Given the description of an element on the screen output the (x, y) to click on. 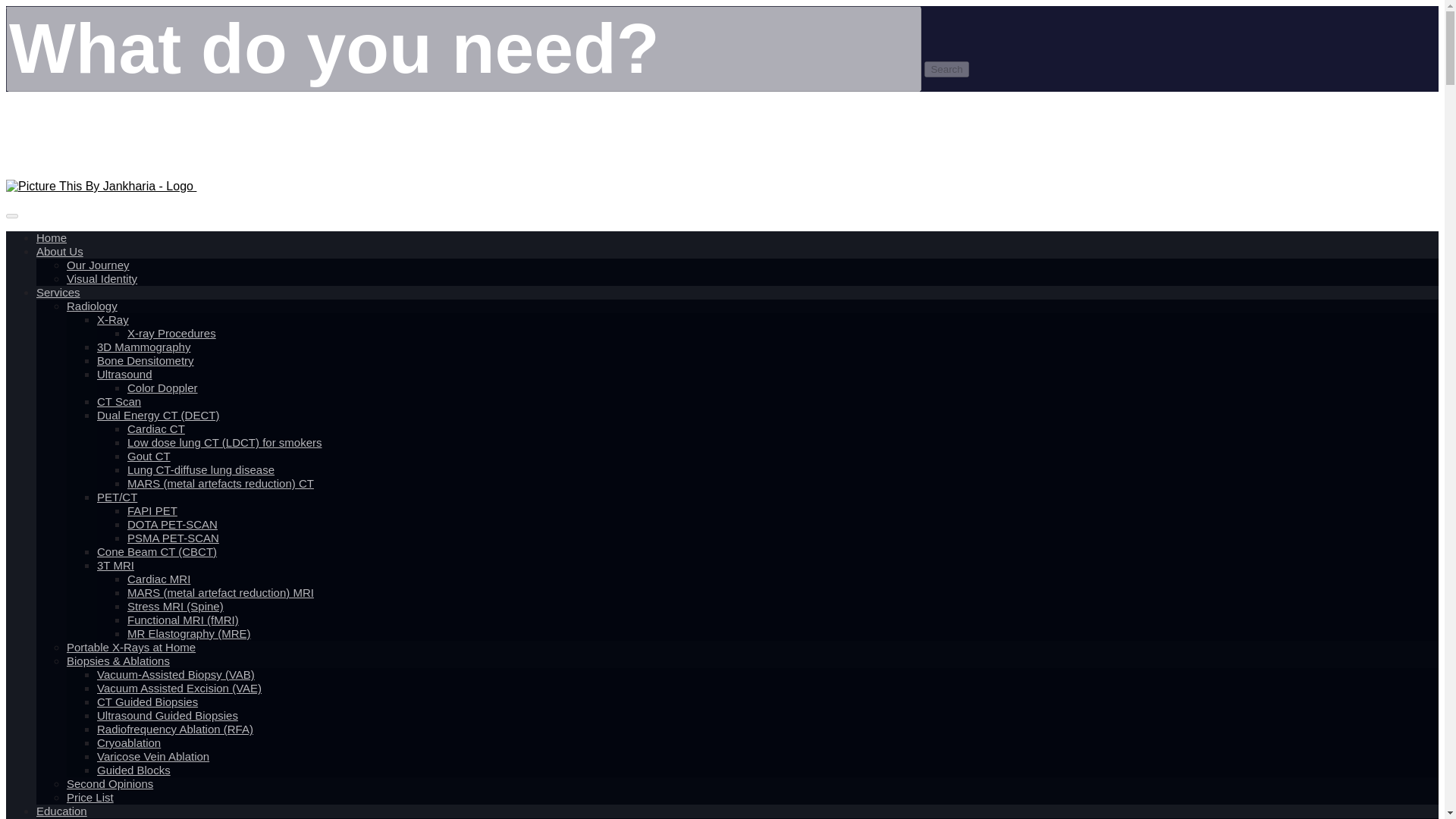
CT Guided Biopsies (147, 702)
Search (946, 68)
Visual Identity (101, 278)
3T MRI (115, 565)
X-Ray (113, 319)
FAPI PET (152, 510)
Radiology (91, 305)
Search (946, 68)
Services (58, 292)
PSMA PET-SCAN (173, 538)
